Given the description of an element on the screen output the (x, y) to click on. 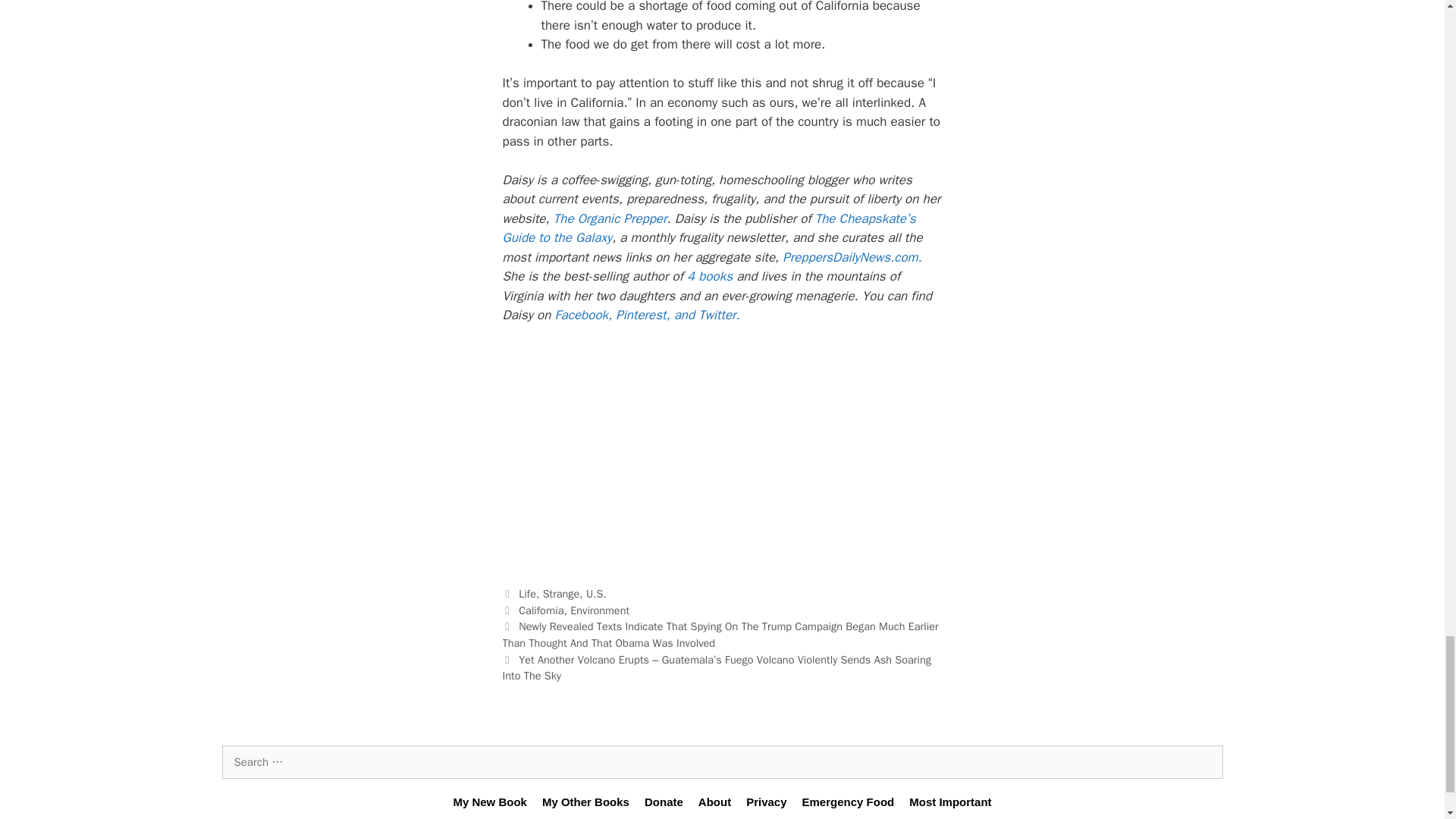
PreppersDailyNews.com. (852, 257)
Environment (599, 610)
The Organic Prepper (609, 218)
Life (526, 593)
The Organic Prepper (609, 218)
U.S. (596, 593)
California (540, 610)
PreppersDailyNews.com. (852, 257)
Facebook (581, 314)
